Given the description of an element on the screen output the (x, y) to click on. 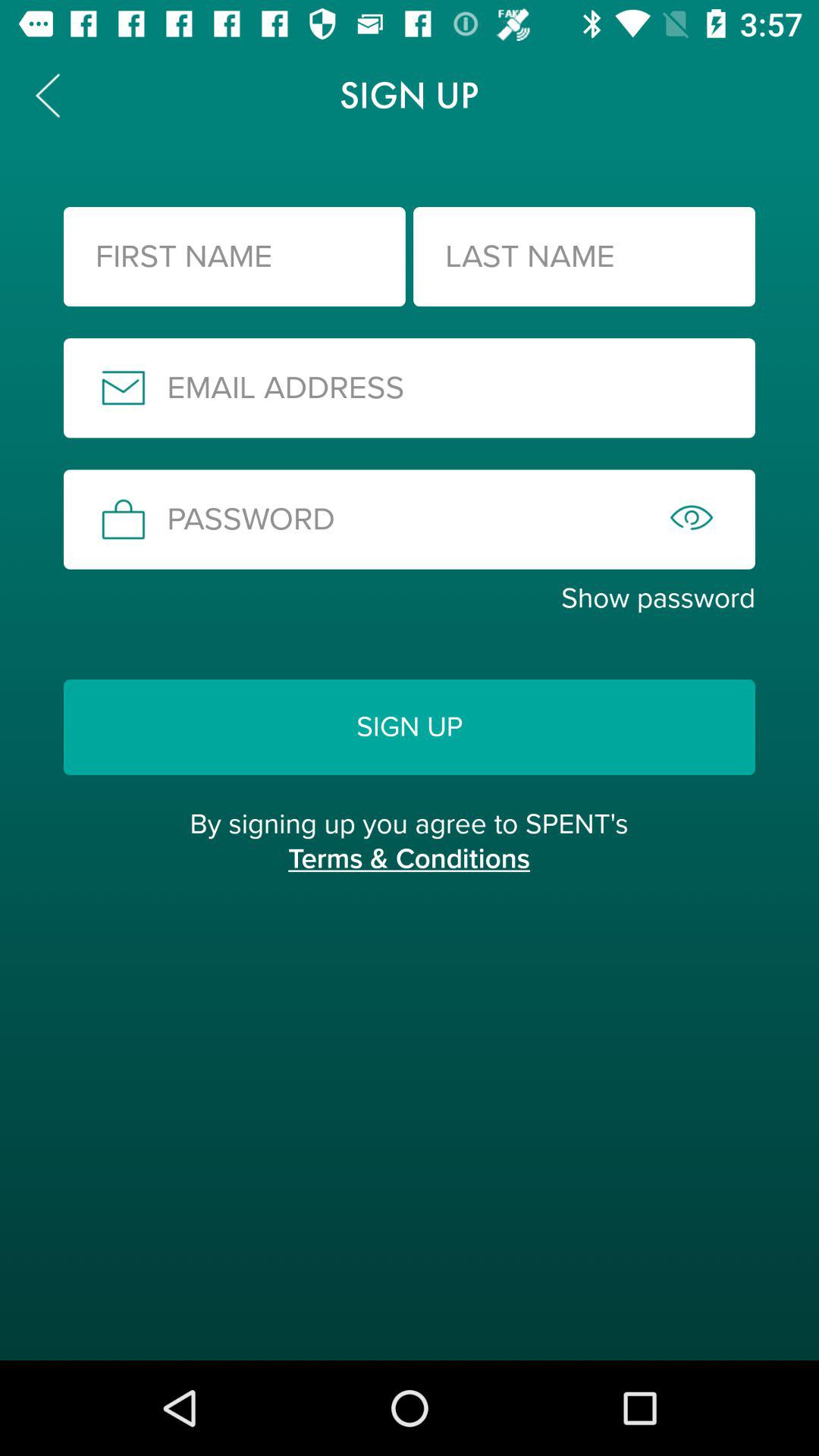
enter password (409, 519)
